Given the description of an element on the screen output the (x, y) to click on. 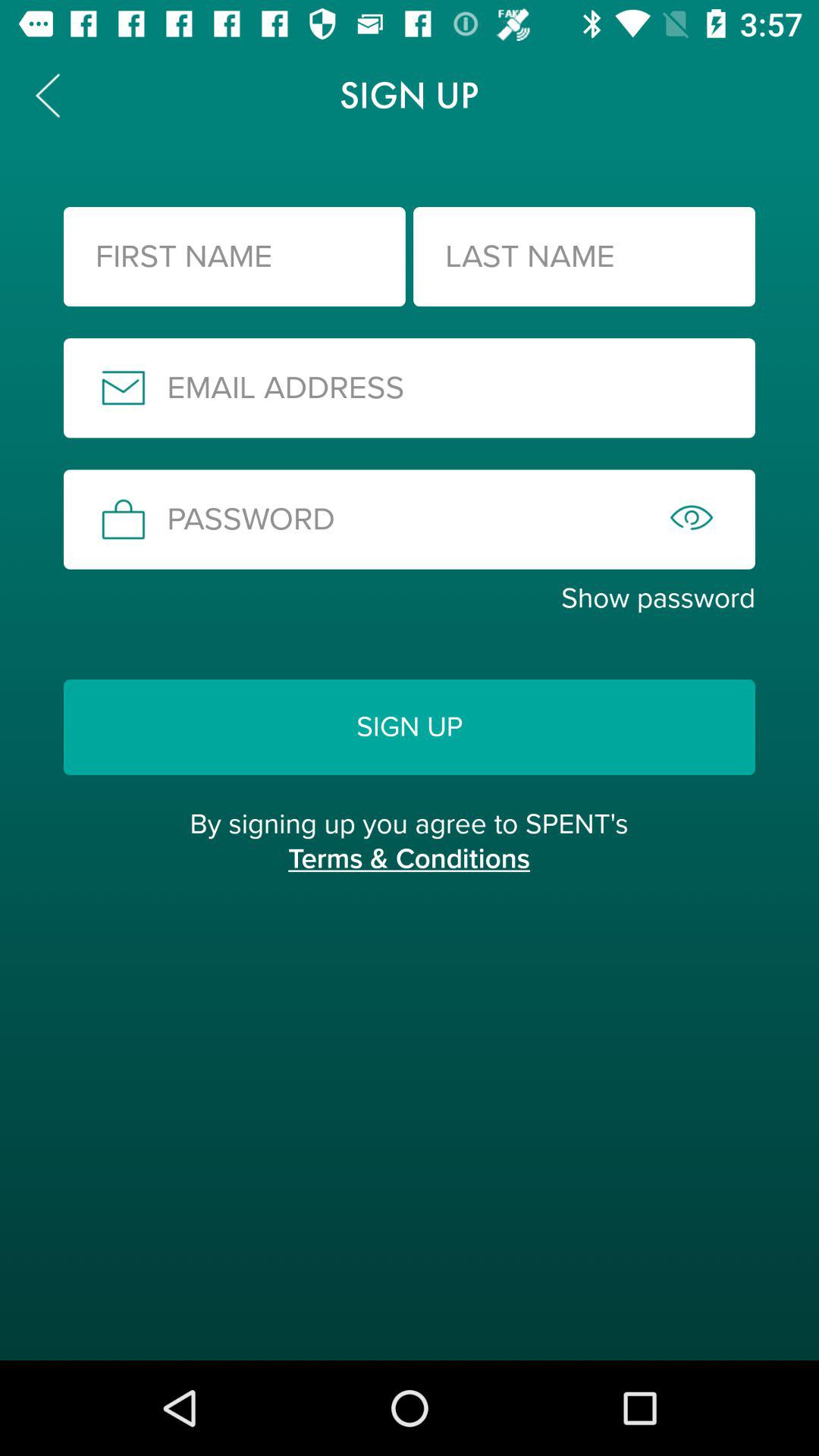
enter password (409, 519)
